Given the description of an element on the screen output the (x, y) to click on. 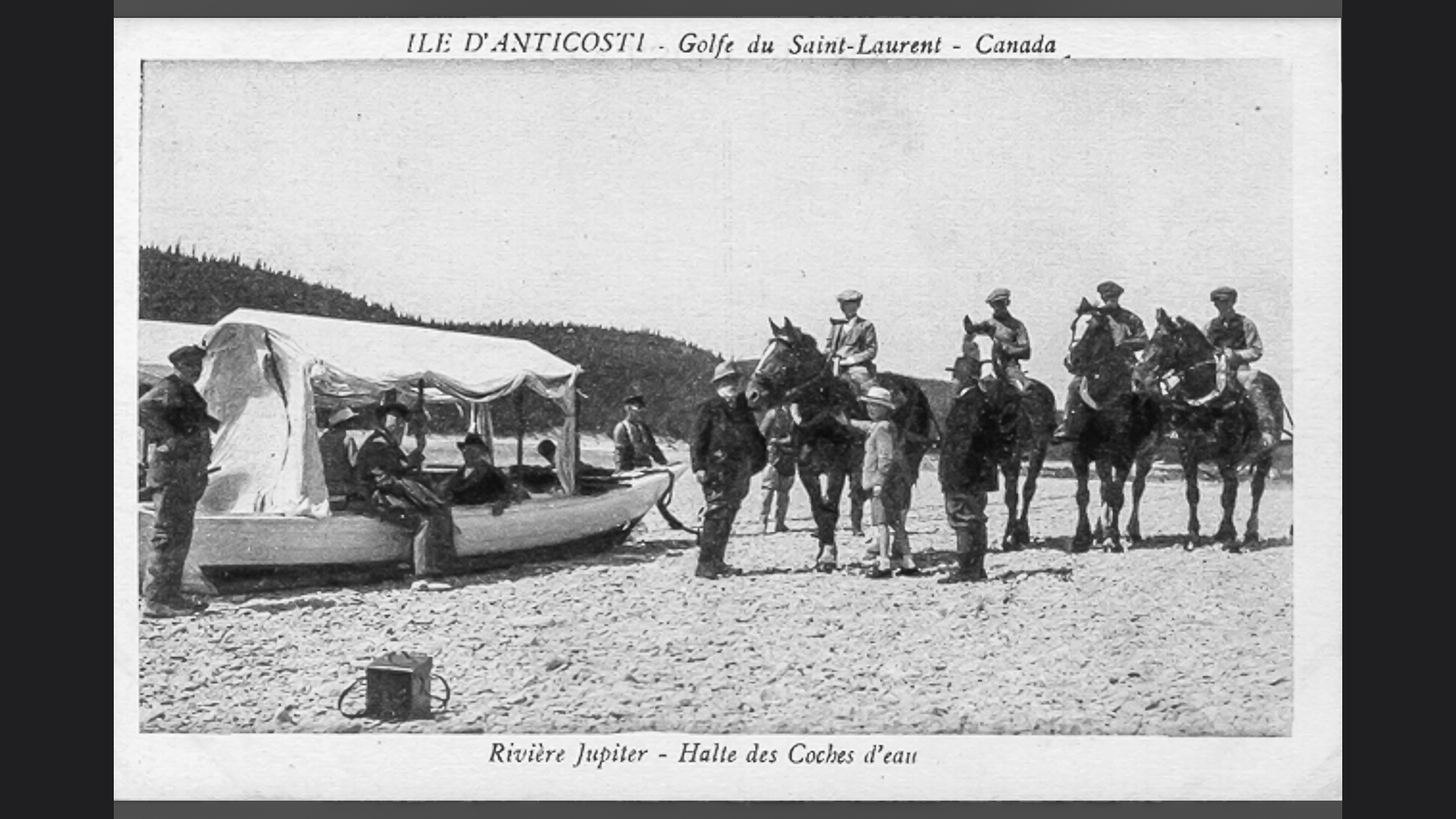
CONTACT Element type: text (879, 516)
ACCUEIL Element type: text (142, 86)
DEUTSCH Element type: text (815, 516)
ENGLISH Element type: text (752, 516)
CARTES DE VOEUX Element type: text (801, 86)
Share Gallery Element type: hover (1391, 473)
CONTACT Element type: text (1116, 86)
GALERIES ANTICOSTI Element type: text (498, 86)
Slideshow Element type: hover (1428, 473)
ACCUEIL Element type: text (573, 516)
ENGLISH Element type: text (1199, 86)
RECHERCHER Element type: text (1296, 86)
INFO SAFARI PHOTO Element type: text (662, 516)
AUTRES GALERIES Element type: text (654, 86)
FORFAIT EXPLORATION PHOTO Element type: text (298, 86)
